Given the description of an element on the screen output the (x, y) to click on. 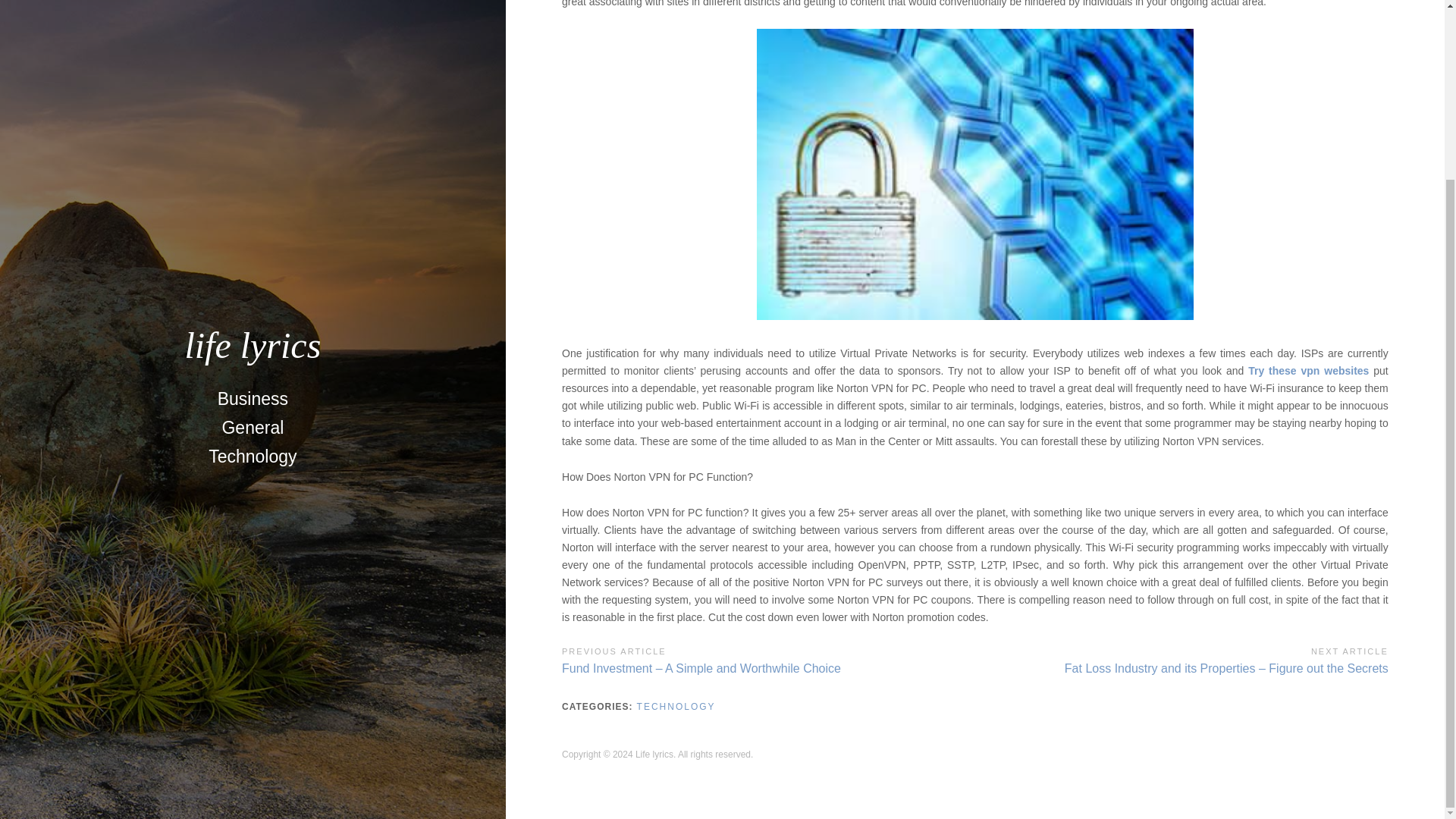
Technology (252, 235)
Business (252, 178)
life lyrics (252, 125)
TECHNOLOGY (676, 706)
Try these vpn websites (1307, 370)
General (252, 207)
